Given the description of an element on the screen output the (x, y) to click on. 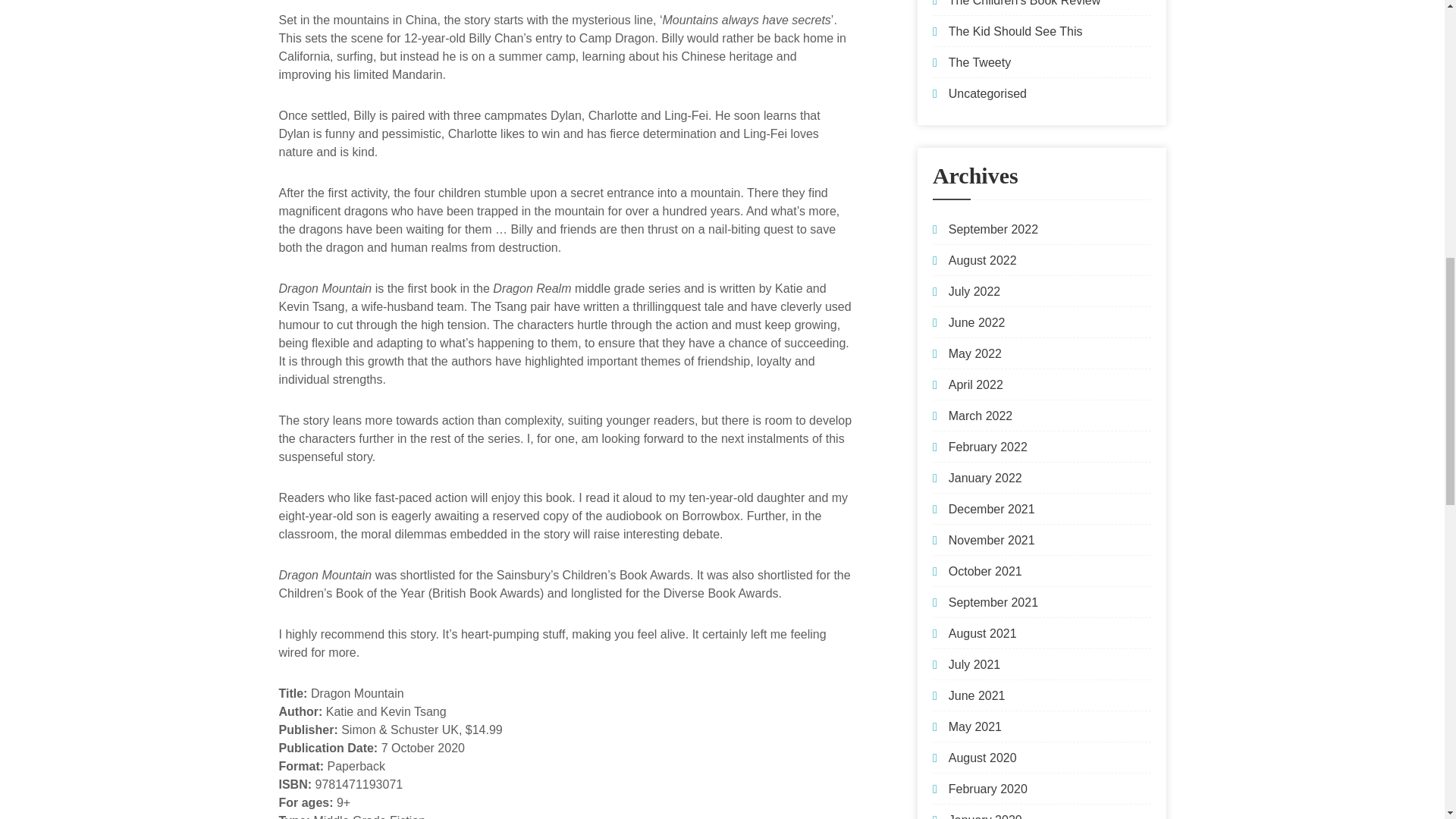
August 2022 (982, 259)
The Children's Book Review (1024, 3)
Uncategorised (987, 92)
September 2022 (993, 228)
The Kid Should See This (1016, 31)
The Tweety (979, 62)
